Given the description of an element on the screen output the (x, y) to click on. 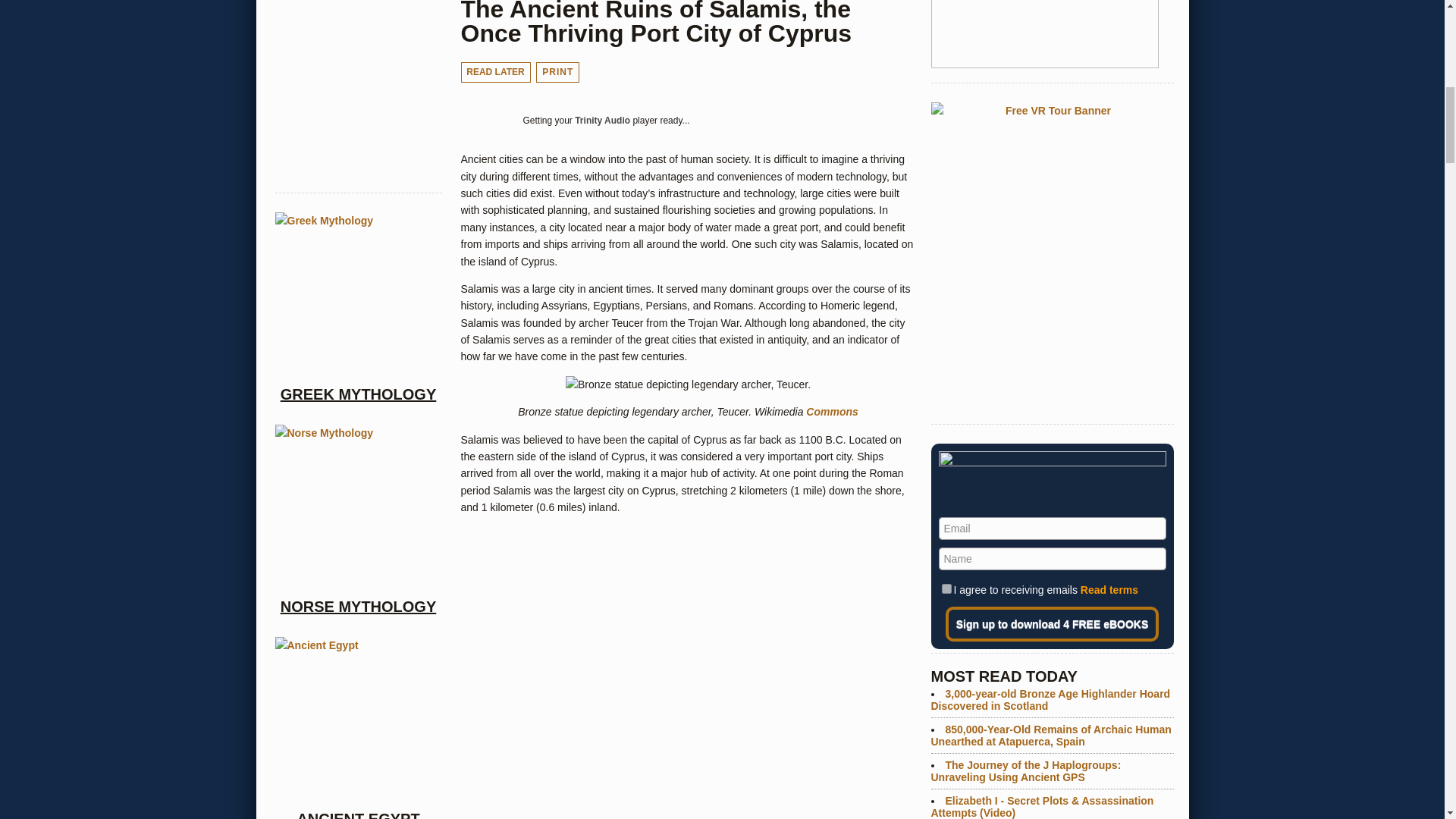
I approve receiving emails (947, 588)
